Given the description of an element on the screen output the (x, y) to click on. 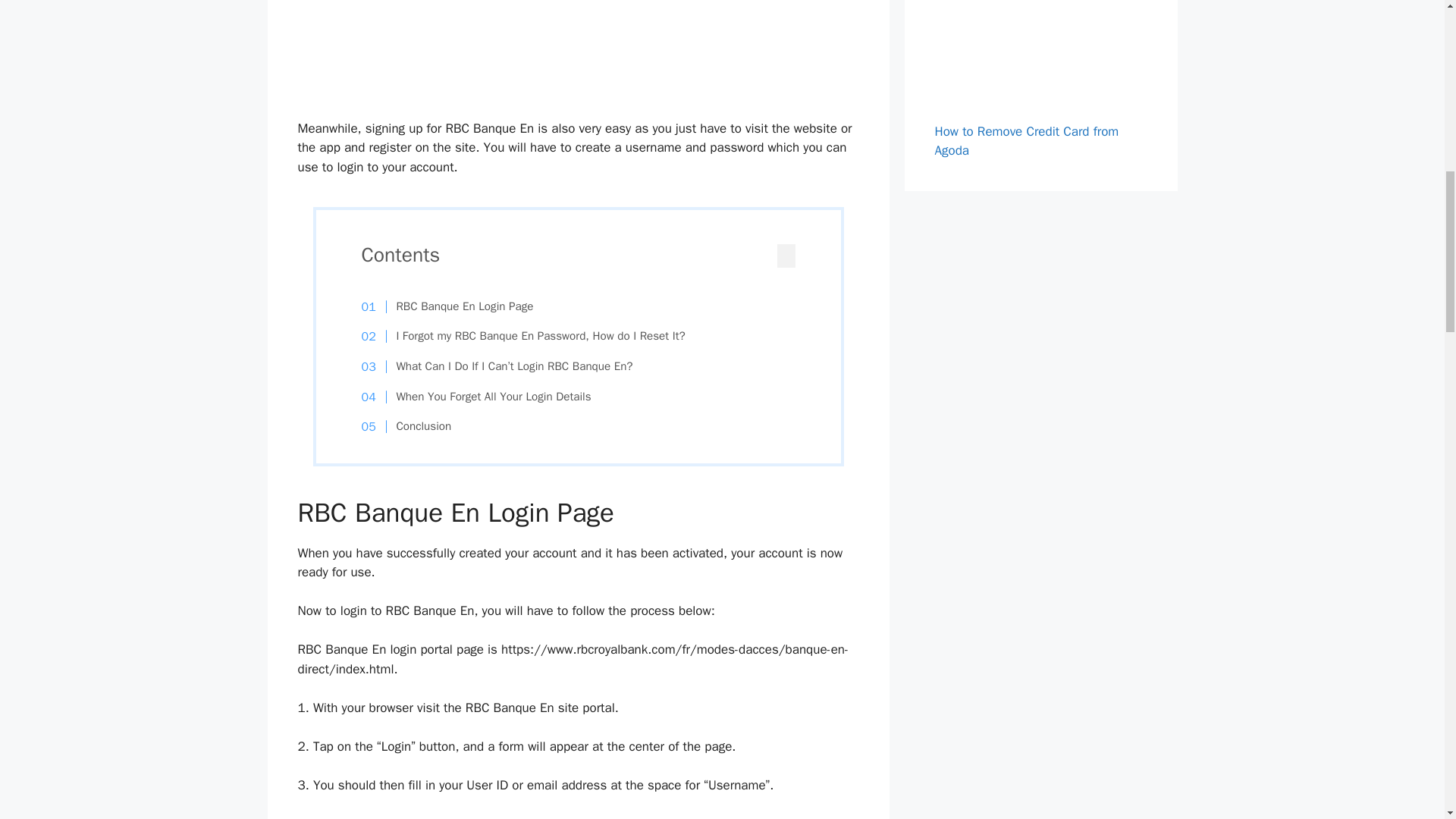
RBC Banque En Login Page (454, 307)
Conclusion (414, 426)
I Forgot my RBC Banque En Password, How do I Reset It? (530, 336)
How to Remove Credit Card from Agoda (1026, 140)
When You Forget All Your Login Details (484, 397)
